Given the description of an element on the screen output the (x, y) to click on. 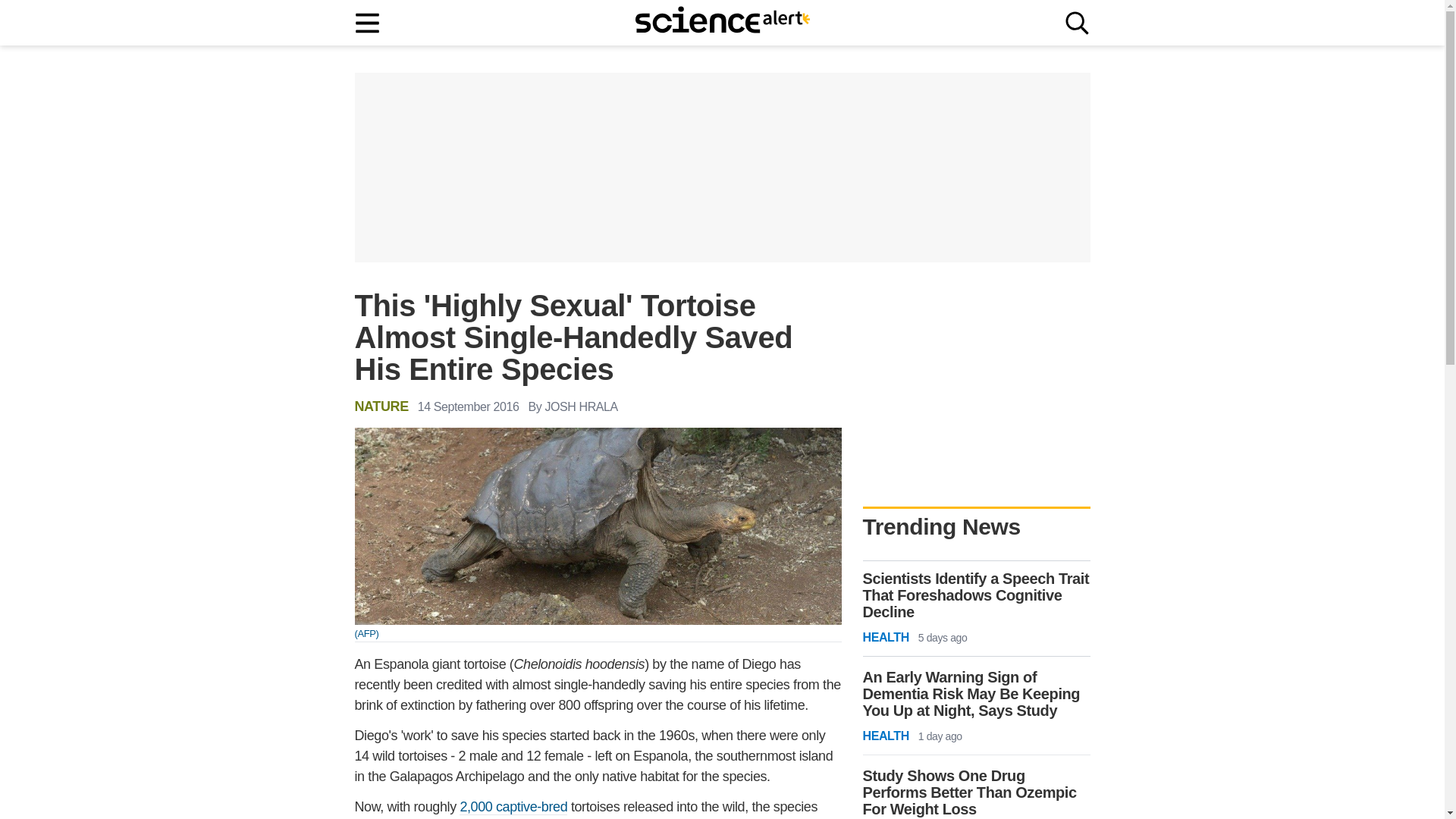
NATURE (382, 406)
2,000 captive-bred (513, 806)
